Given the description of an element on the screen output the (x, y) to click on. 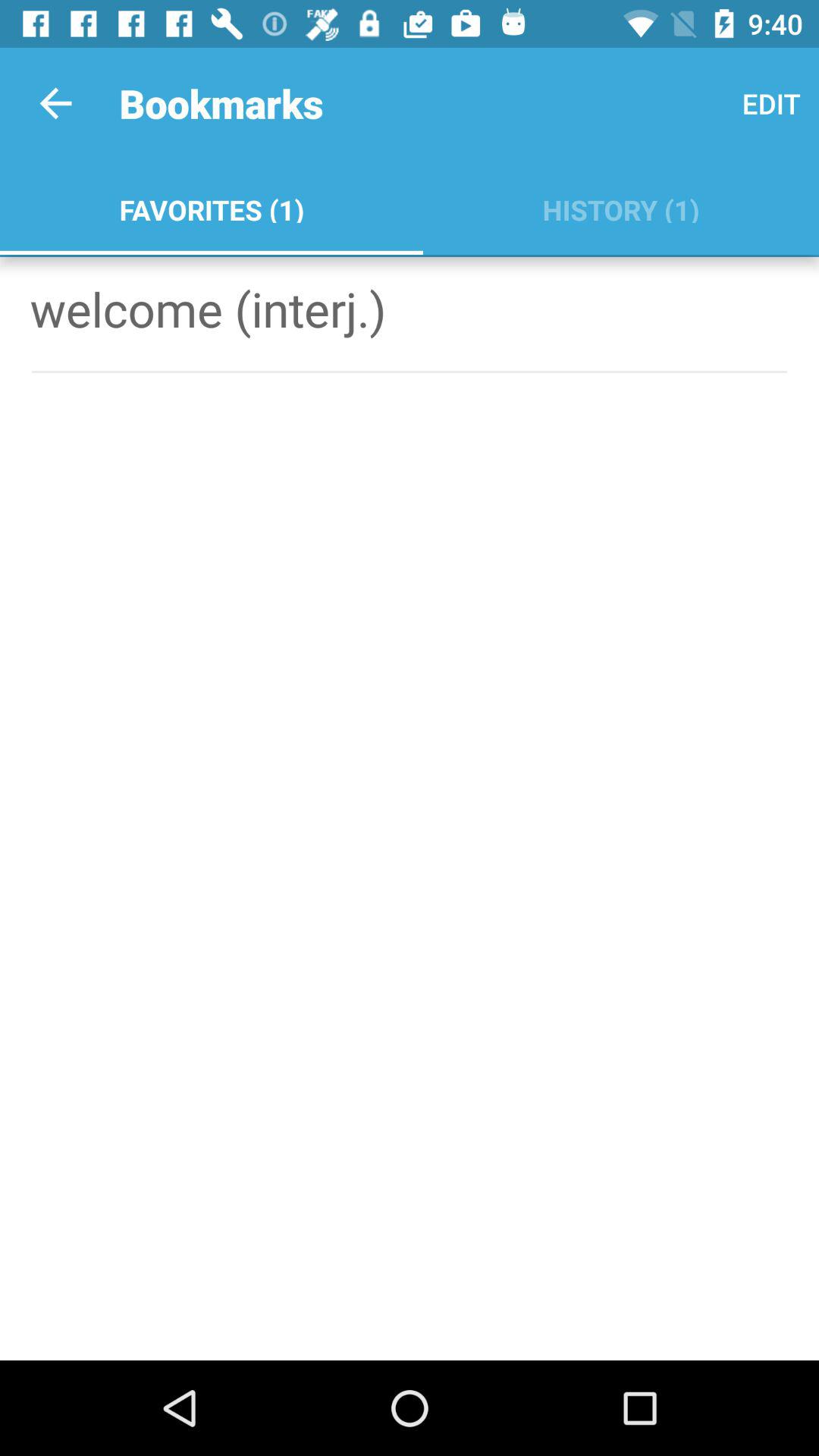
turn off history (1) icon (621, 206)
